Given the description of an element on the screen output the (x, y) to click on. 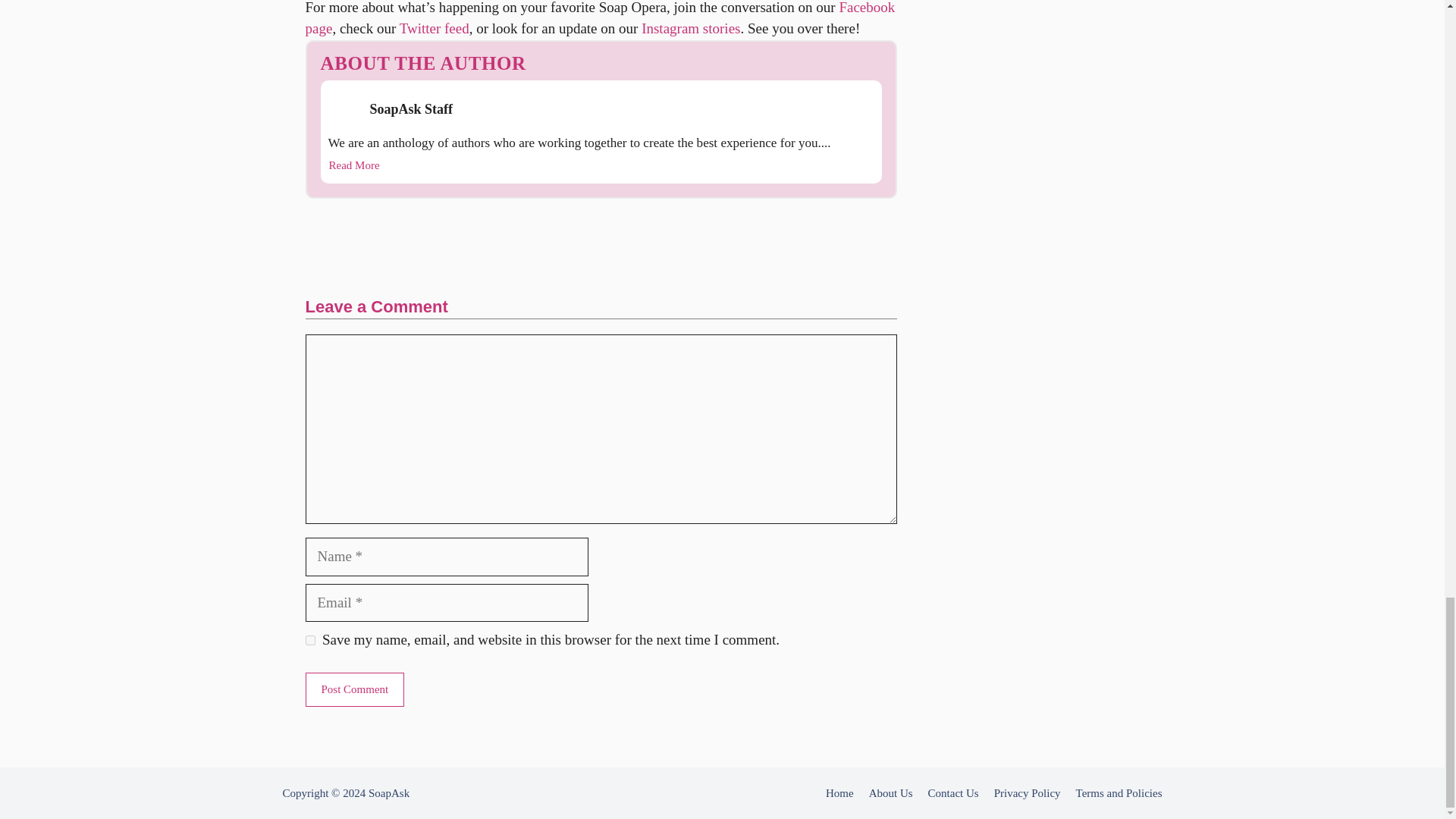
Post Comment (354, 689)
yes (309, 640)
